Given the description of an element on the screen output the (x, y) to click on. 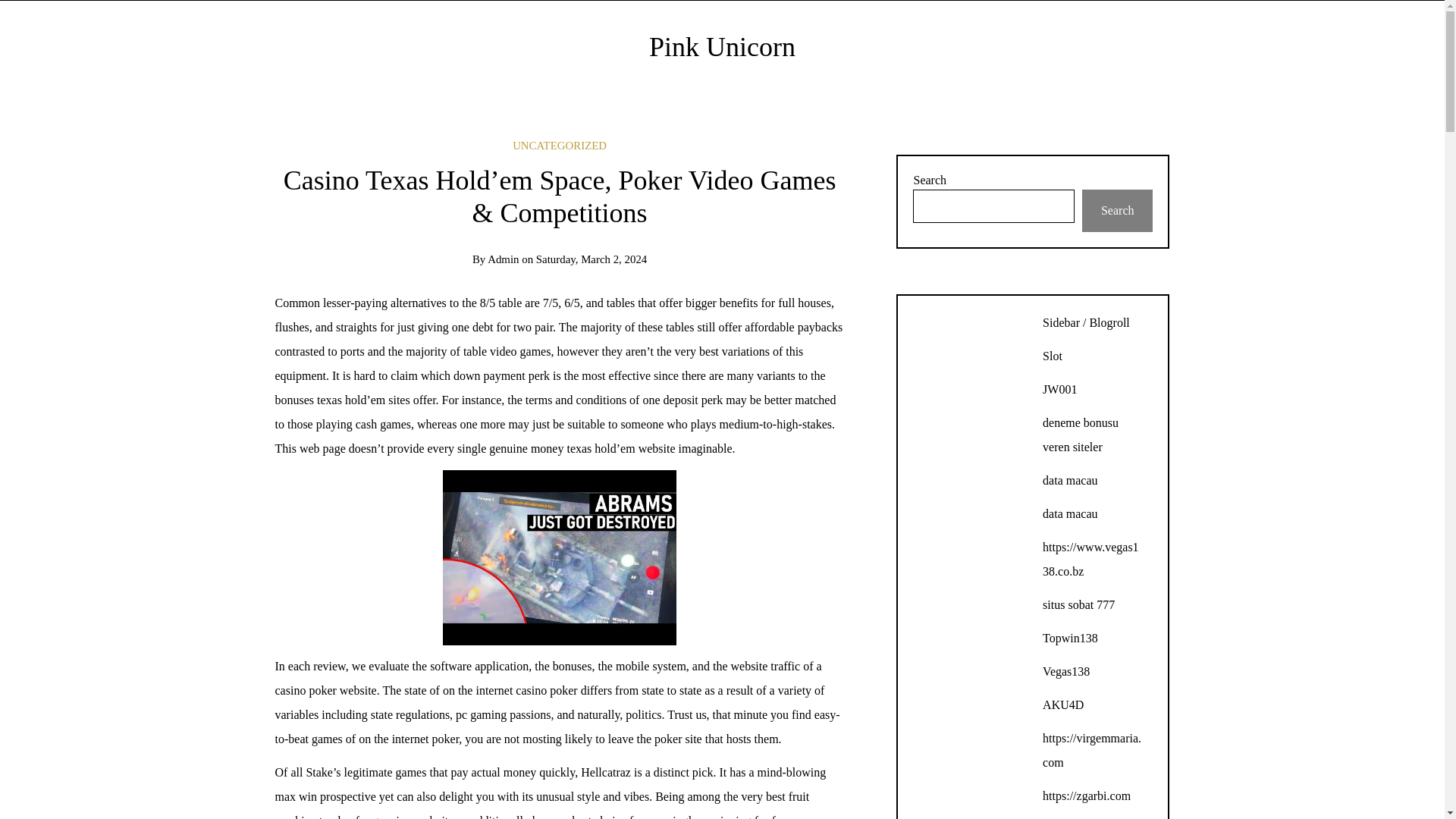
situs sobat 777 (1078, 604)
deneme bonusu veren siteler (1080, 434)
AKU4D (1062, 704)
Search (1117, 210)
Admin (502, 259)
Saturday, March 2, 2024 (591, 259)
Posts by admin (502, 259)
Vegas138 (1065, 671)
Slot (1052, 355)
JW001 (1059, 389)
UNCATEGORIZED (559, 145)
data macau (1069, 480)
data macau (1069, 513)
Pink Unicorn (721, 46)
Topwin138 (1069, 637)
